Given the description of an element on the screen output the (x, y) to click on. 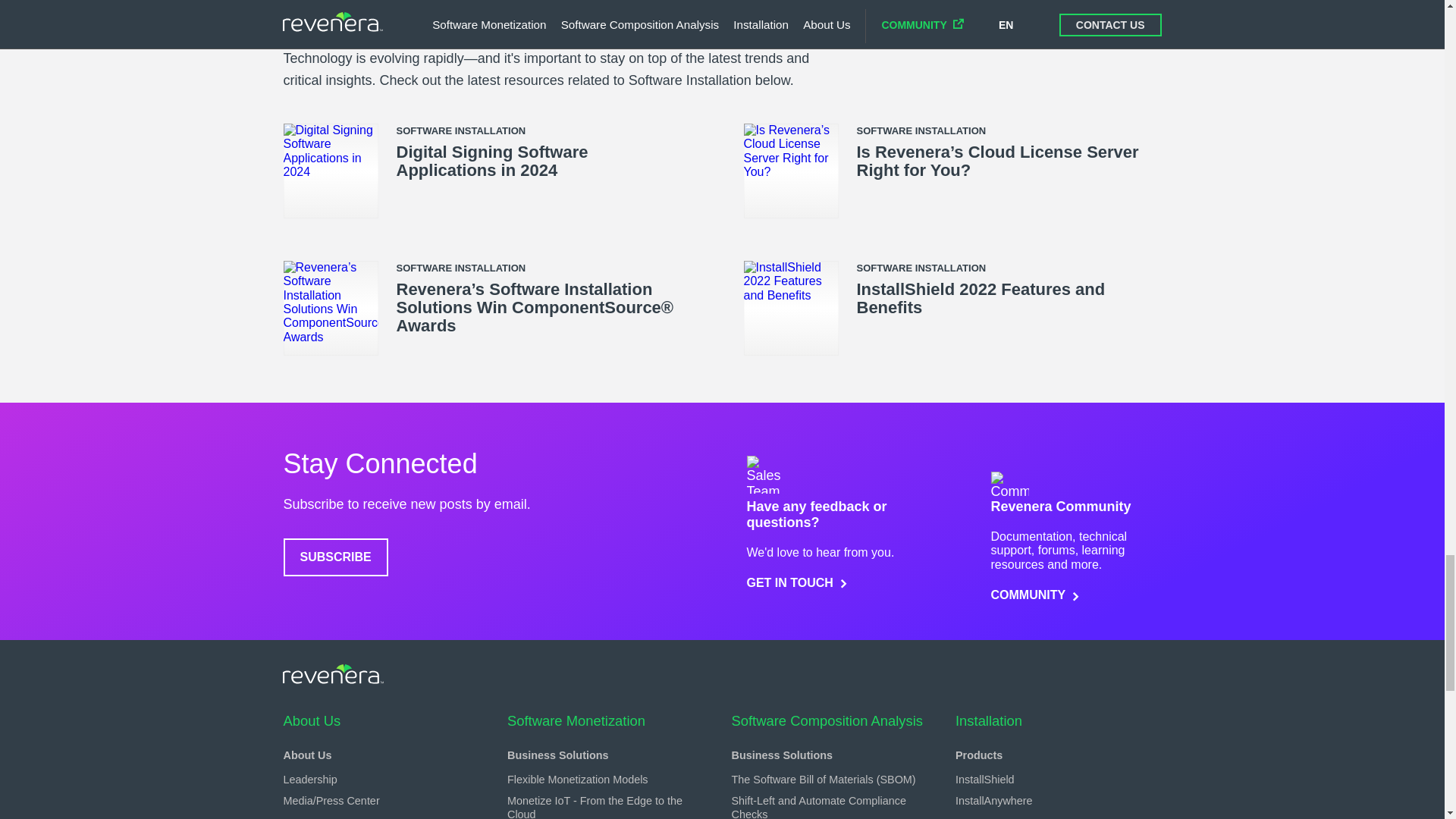
InstallShield 2022 Features and Benefits (981, 298)
Digital Signing Software Applications in 2024 (492, 160)
